Given the description of an element on the screen output the (x, y) to click on. 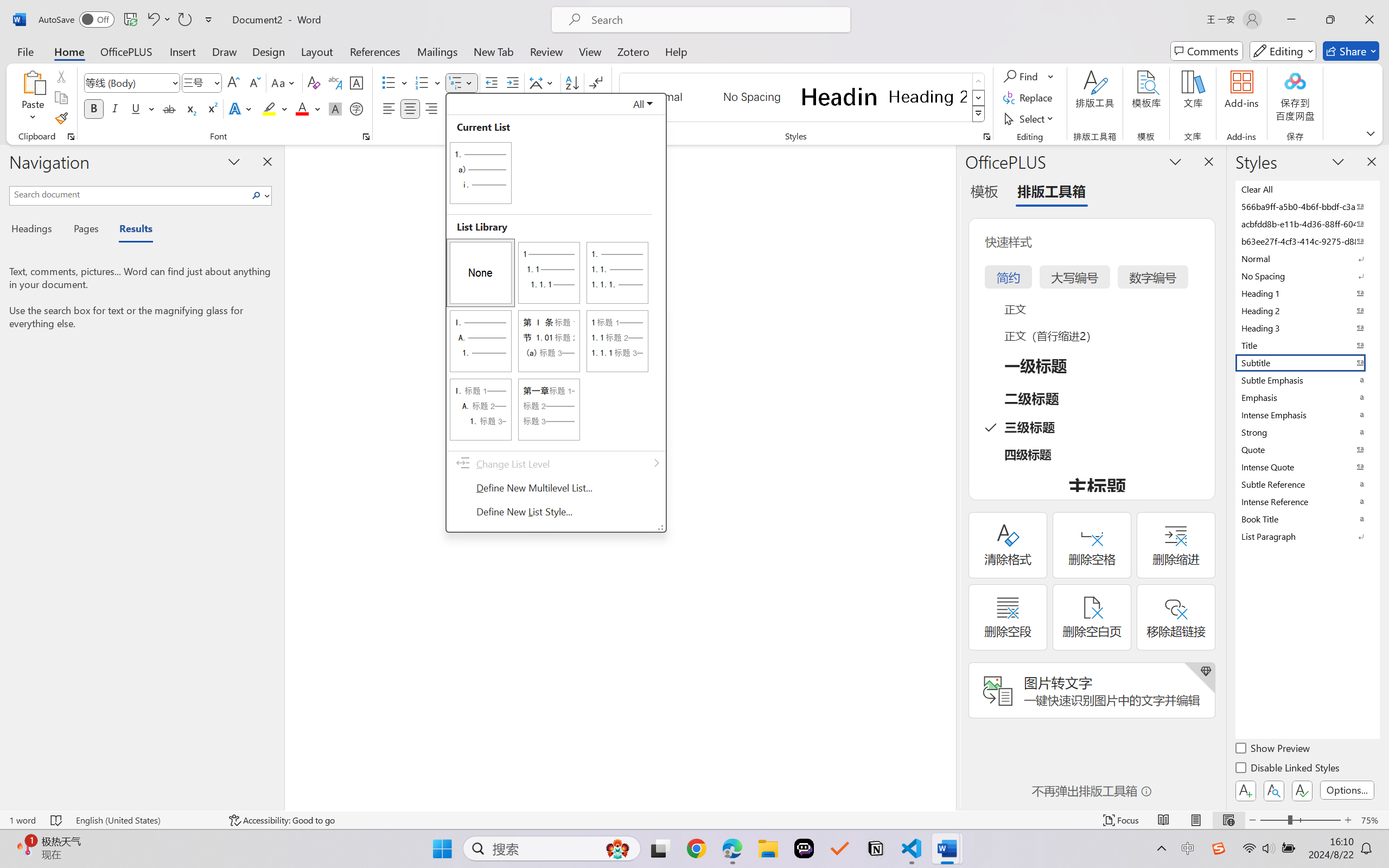
Quote (1306, 449)
List Paragraph (1306, 536)
Comments (1206, 50)
Character Shading (334, 108)
Enclose Characters... (356, 108)
Subtitle (1306, 362)
Show Preview (1273, 749)
Numbering (428, 82)
Bullets (395, 82)
Results (130, 229)
AutomationID: BadgeAnchorLargeTicker (24, 847)
Center (409, 108)
